Given the description of an element on the screen output the (x, y) to click on. 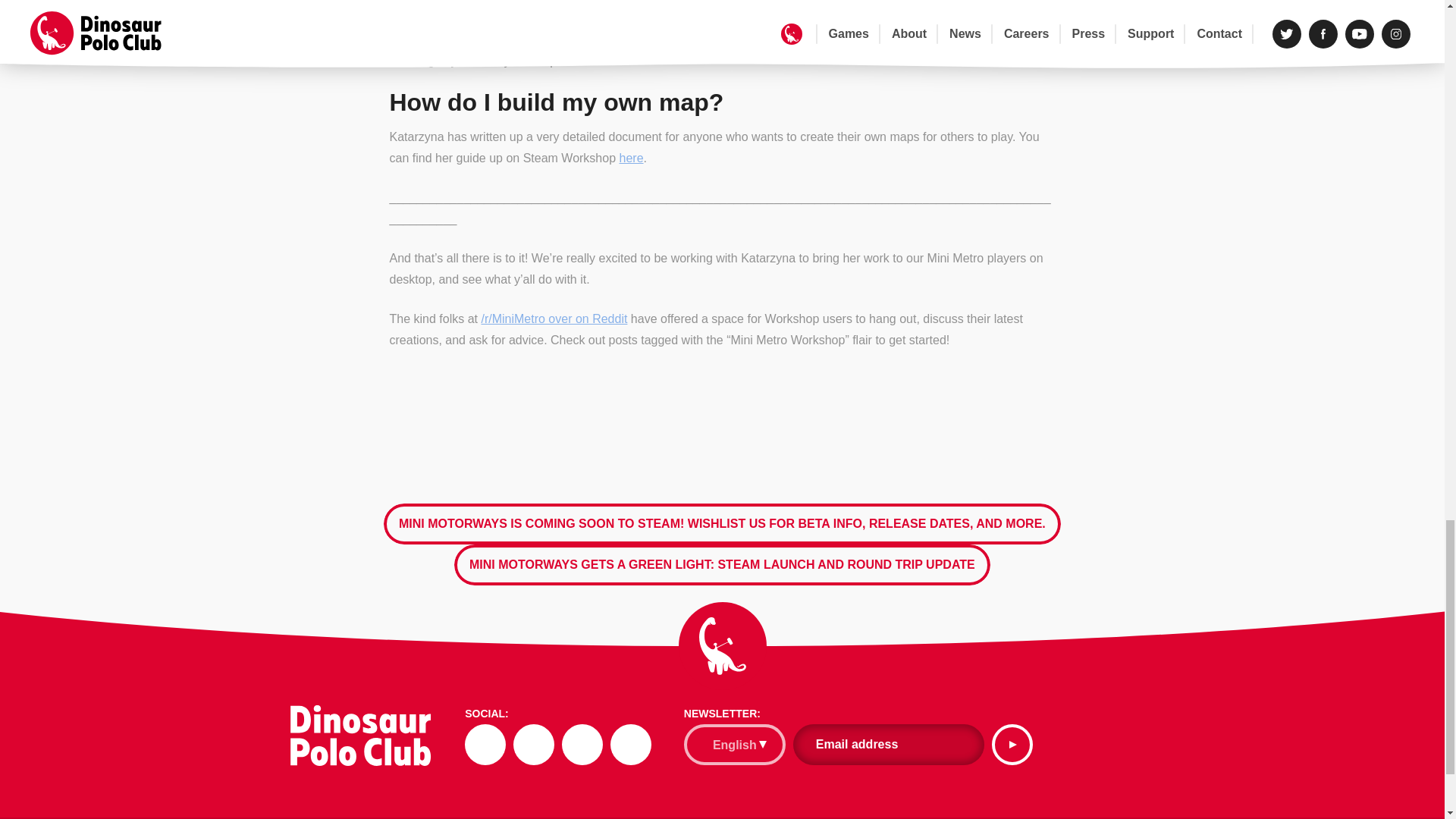
YouTube (582, 743)
Instagram (630, 743)
Facebook (533, 743)
here (630, 157)
Twitter (484, 743)
